Given the description of an element on the screen output the (x, y) to click on. 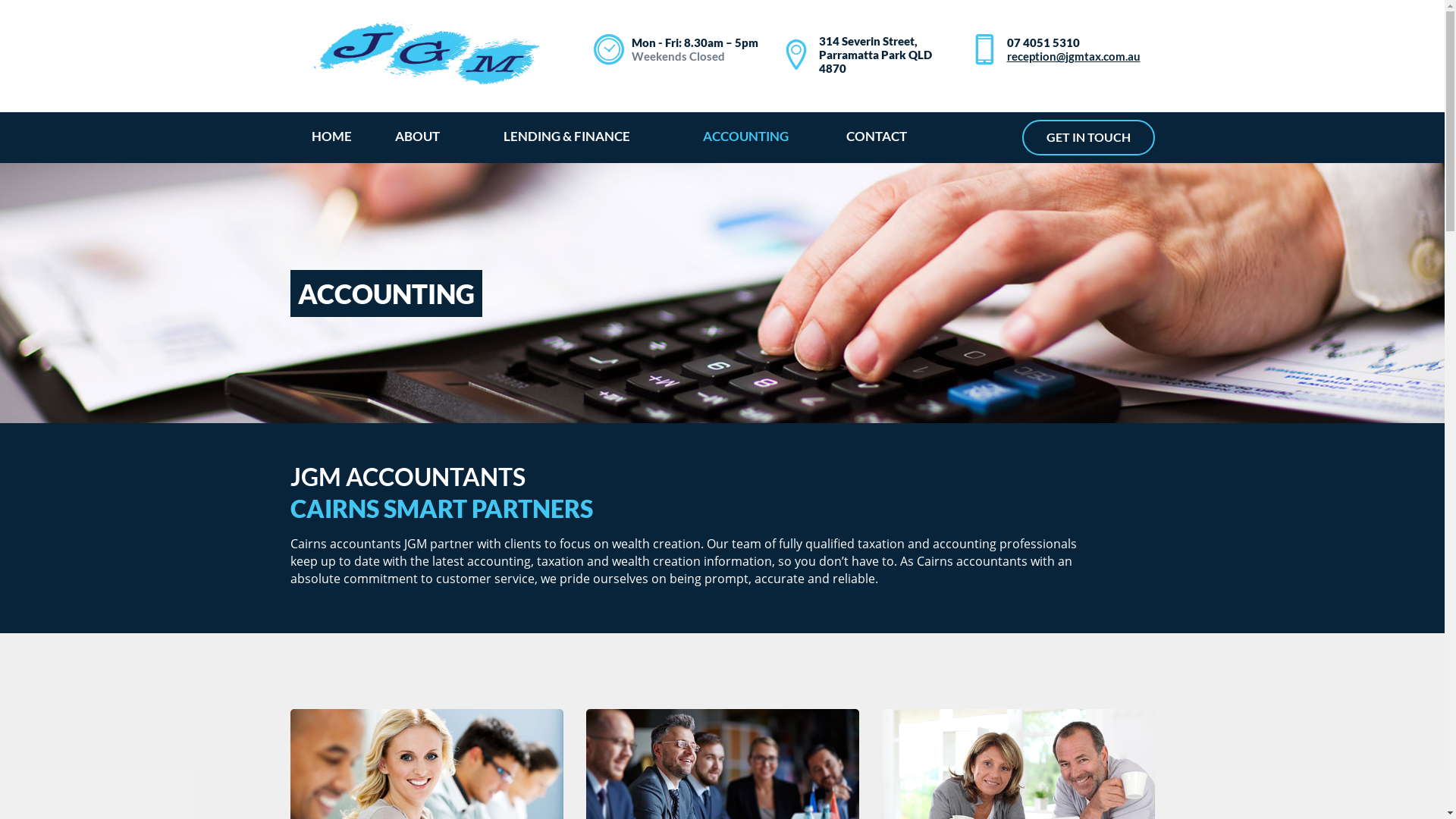
ABOUT Element type: text (417, 136)
HOME Element type: text (331, 136)
ACCOUNTING Element type: text (745, 136)
CONTACT Element type: text (875, 136)
reception@jgmtax.com.au Element type: text (1073, 55)
GET IN TOUCH Element type: text (1088, 137)
LENDING & FINANCE Element type: text (566, 136)
